Given the description of an element on the screen output the (x, y) to click on. 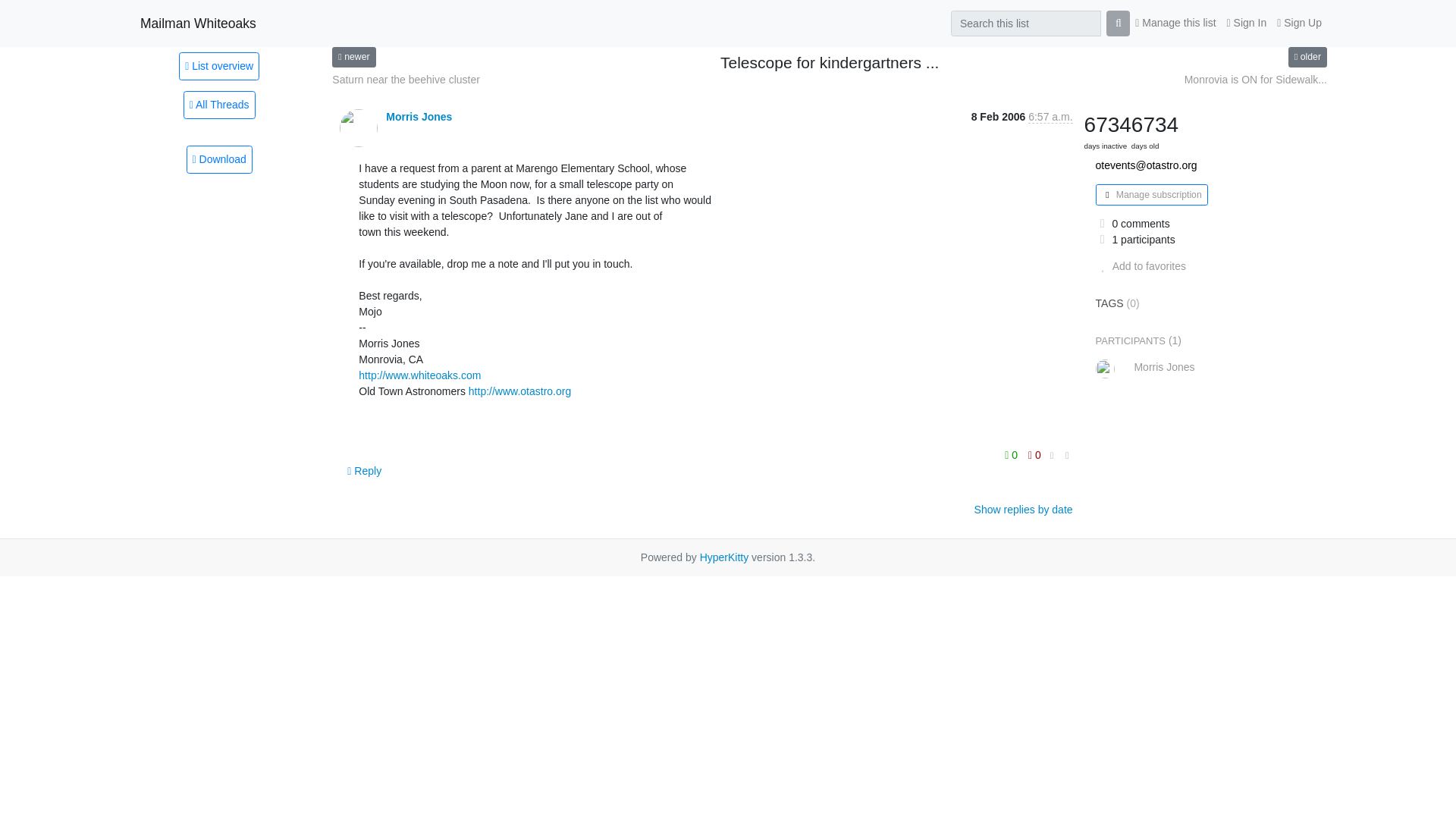
Sign in to reply online (363, 470)
Monrovia is ON for Sidewalk... (1255, 79)
Saturn near the beehive cluster (353, 56)
Download (218, 159)
Sign In (1246, 22)
older (1307, 56)
Display in fixed font (1052, 456)
All Threads (219, 104)
You must be logged-in to vote. (1013, 455)
You must be logged-in to vote. (1035, 455)
Saturn near the beehive cluster (405, 79)
Saturn near the beehive cluster (405, 79)
Manage this list (1175, 22)
This thread in gzipped mbox format (218, 159)
Mailman Whiteoaks (197, 22)
